Given the description of an element on the screen output the (x, y) to click on. 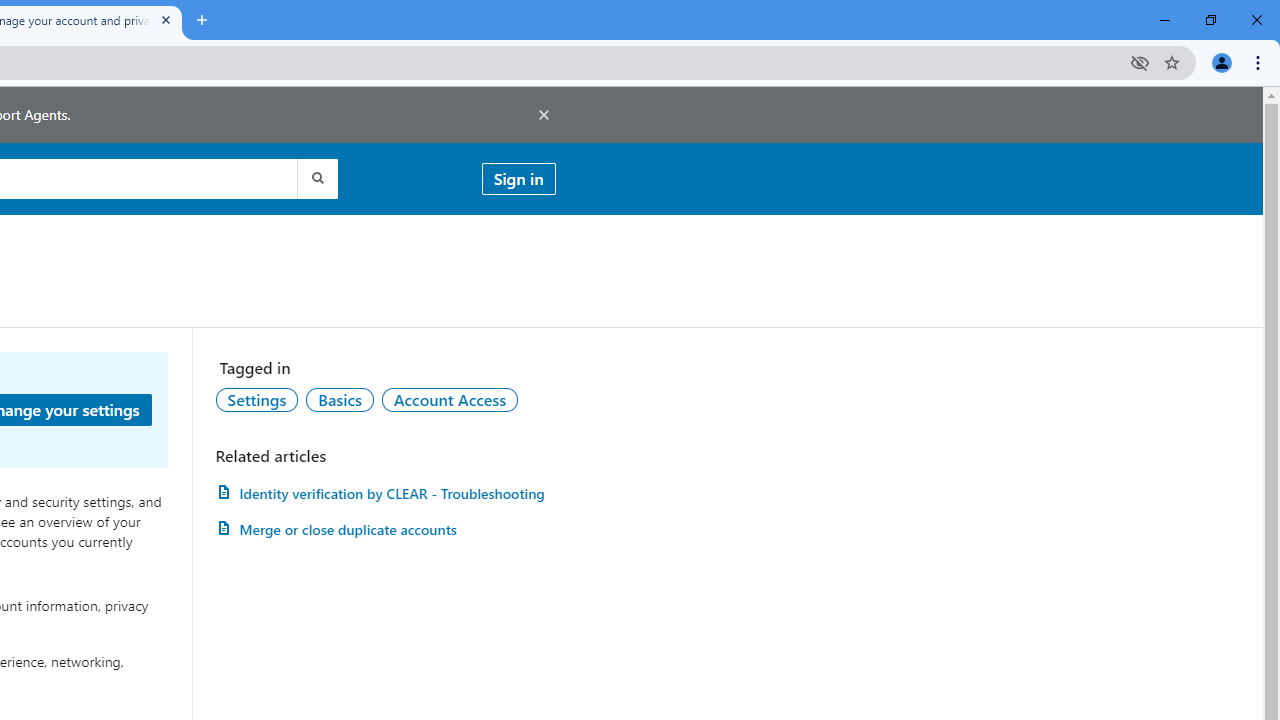
Identity verification by CLEAR - Troubleshooting (385, 493)
AutomationID: topic-link-a149001 (257, 399)
AutomationID: article-link-a1457505 (385, 493)
Account Access (449, 399)
Merge or close duplicate accounts (385, 529)
Basics (339, 399)
